Given the description of an element on the screen output the (x, y) to click on. 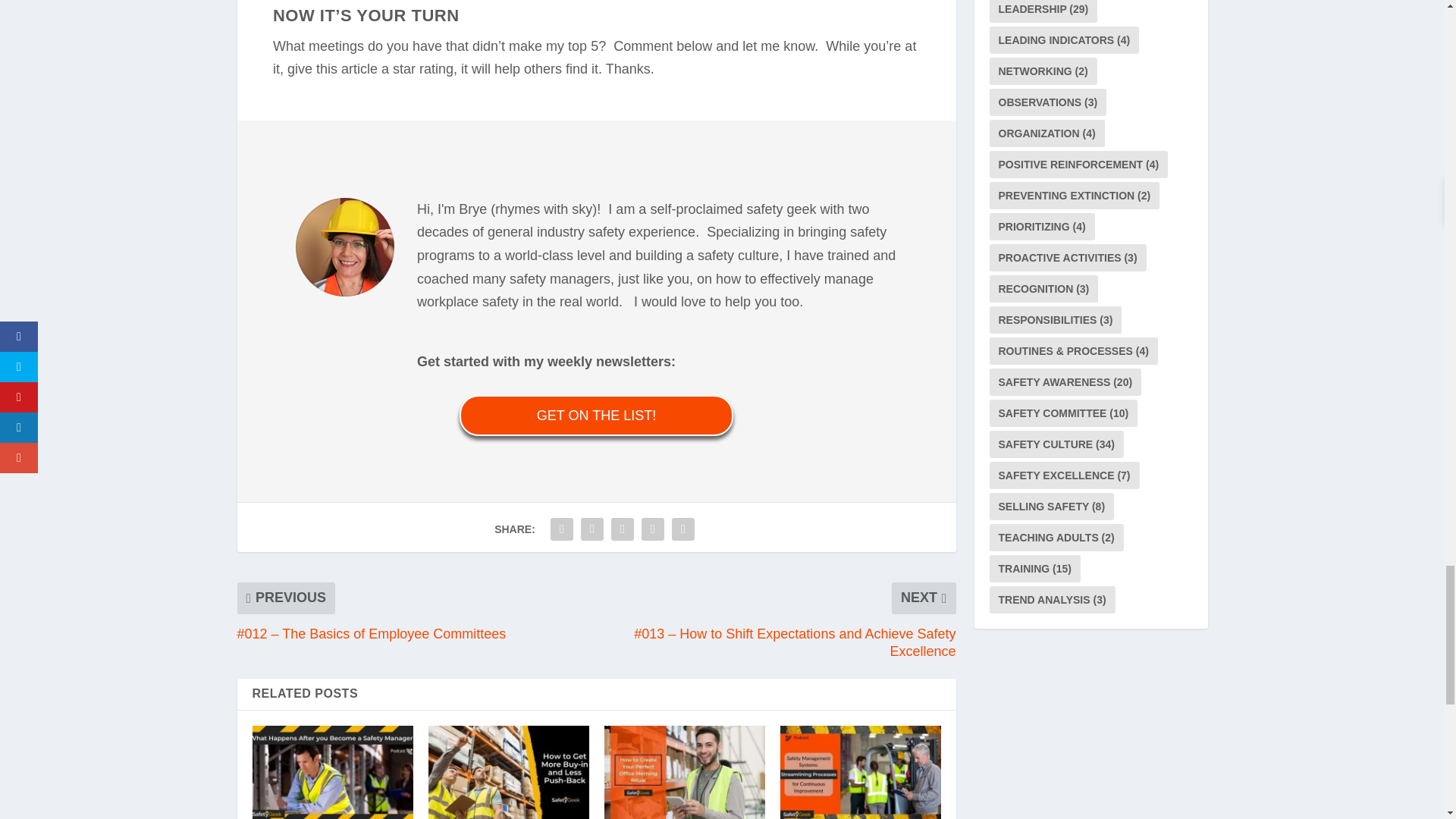
How to Create Your Perfect Office Morning Ritual (684, 772)
How to Get More Buy-in and Less Push-Back (508, 772)
GET ON THE LIST! (596, 414)
